Given the description of an element on the screen output the (x, y) to click on. 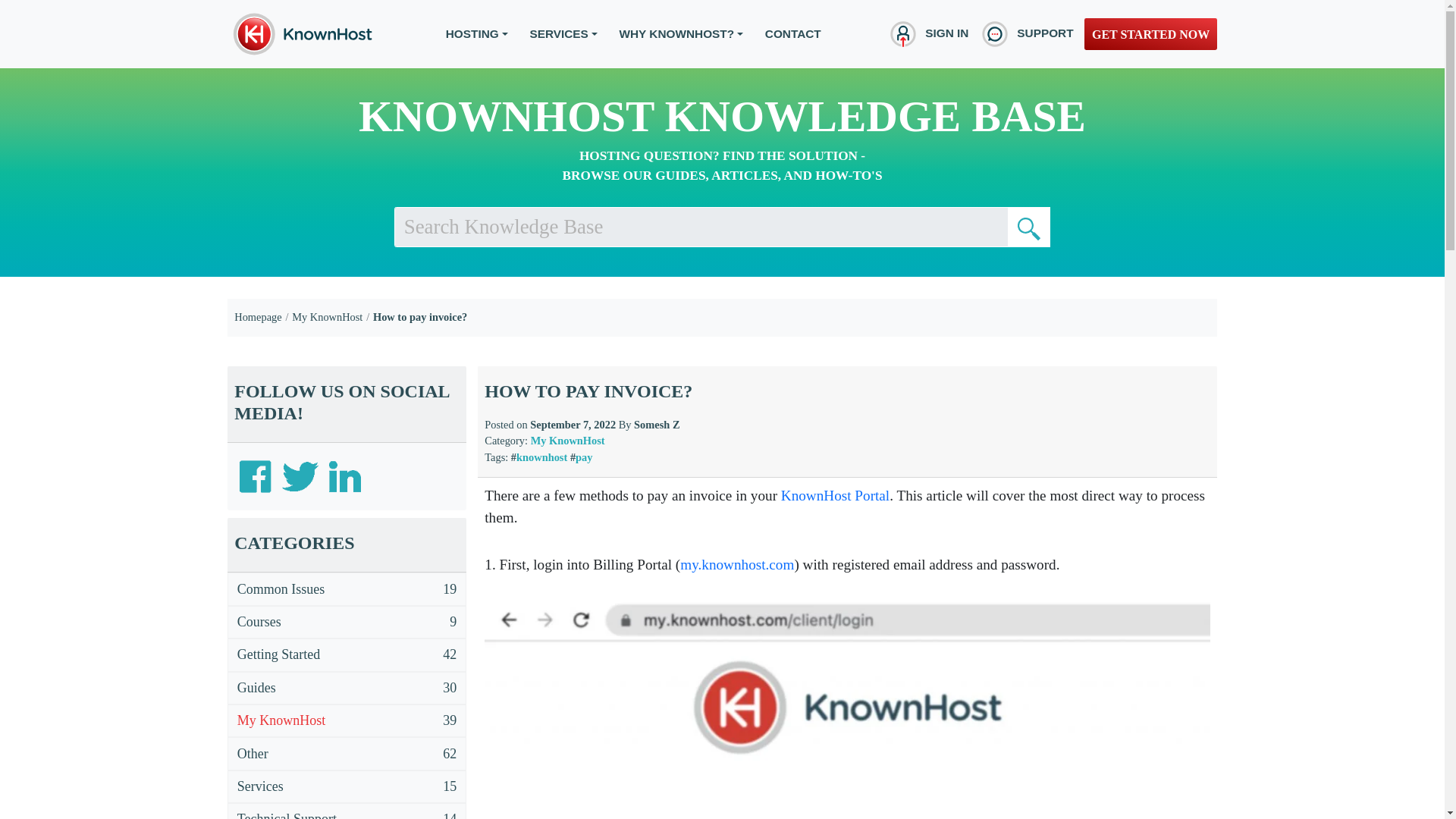
Homepage (257, 316)
SERVICES (563, 33)
WHY KNOWNHOST? (680, 33)
CONTACT (793, 33)
SUPPORT (1024, 33)
GET STARTED NOW (1150, 33)
How to pay invoice? (419, 316)
Homepage (257, 316)
SIGN IN (926, 33)
1 (1028, 226)
